Given the description of an element on the screen output the (x, y) to click on. 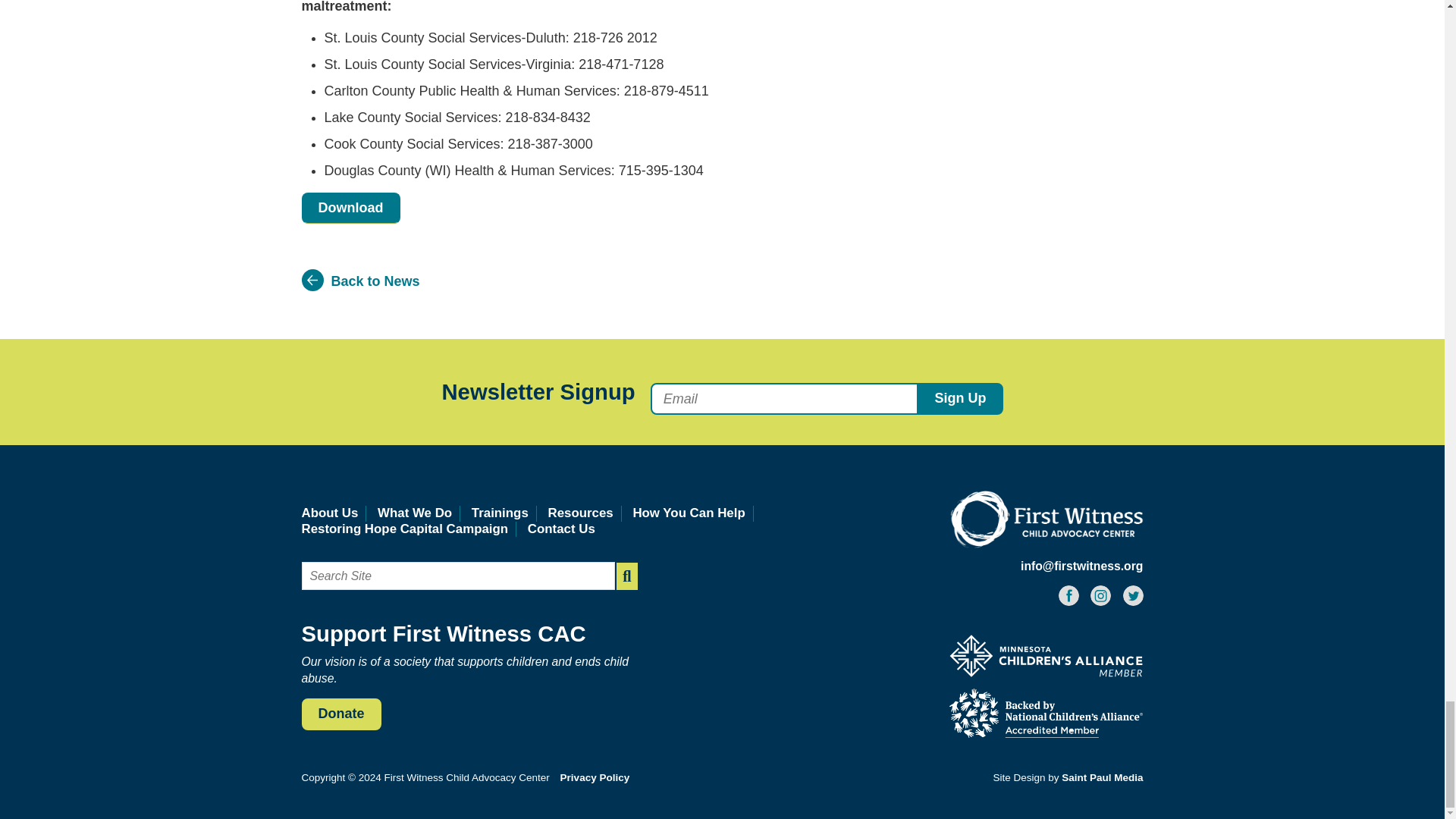
Sign Up (960, 398)
